Given the description of an element on the screen output the (x, y) to click on. 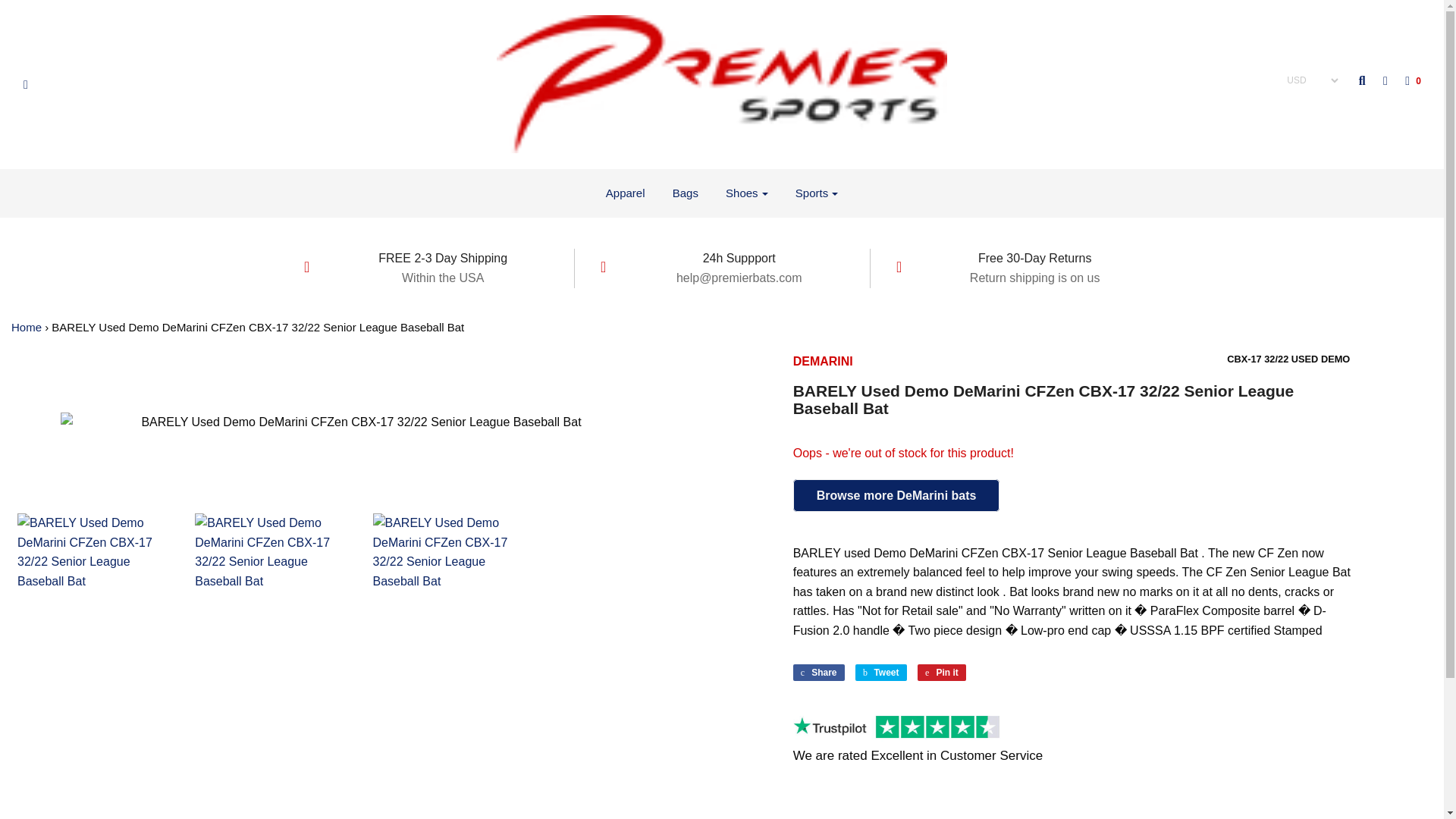
Bags (685, 192)
Shoes (746, 192)
Apparel (625, 192)
Sports (816, 192)
0 (1405, 80)
Back to the frontpage (26, 327)
Cart (1405, 80)
DeMarini (823, 360)
Log in (1377, 80)
